Given the description of an element on the screen output the (x, y) to click on. 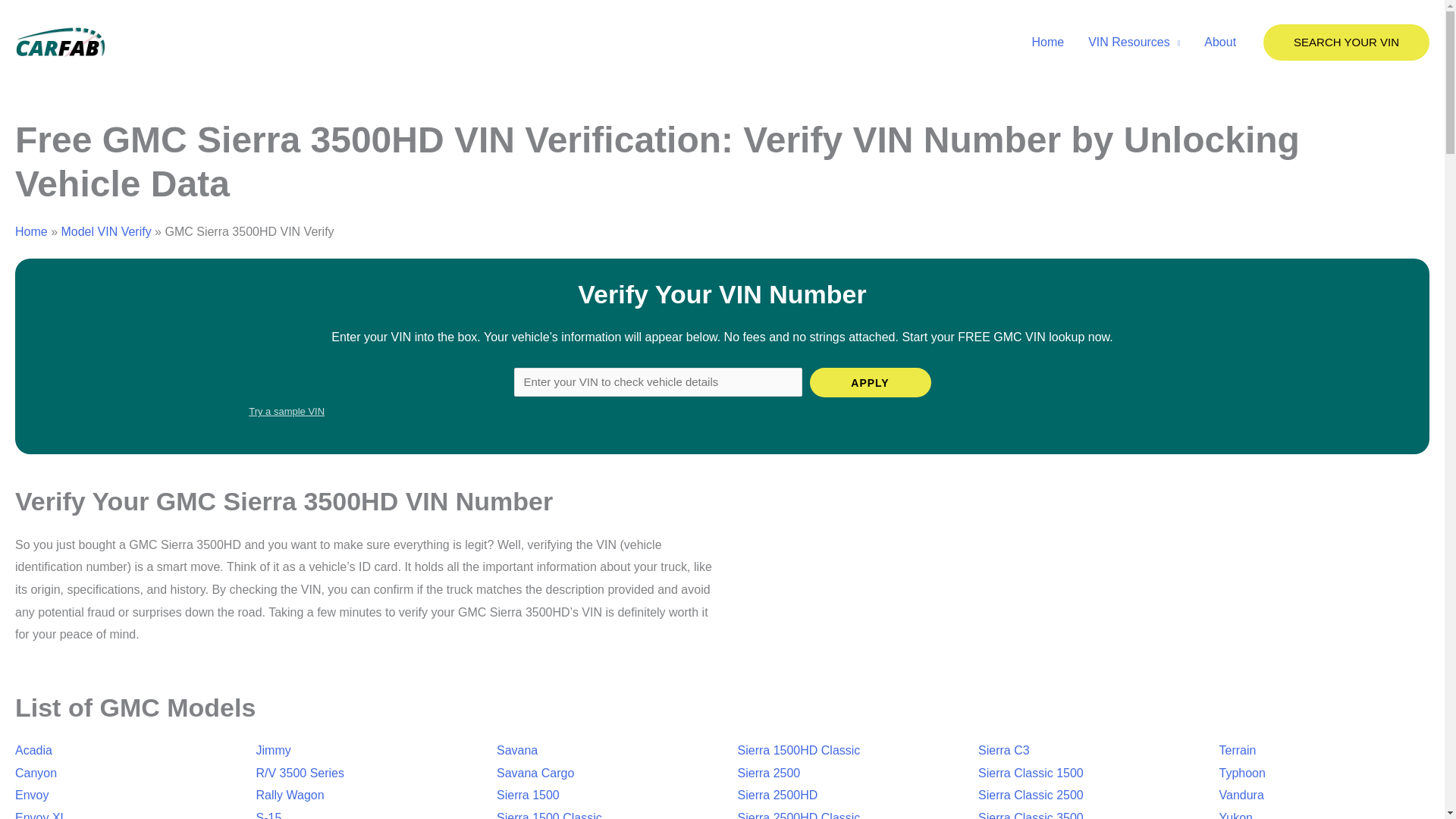
Canyon (35, 772)
SEARCH YOUR VIN (1346, 42)
Model VIN Verify (106, 231)
Rally Wagon (290, 794)
Sierra 1500 (527, 794)
Jimmy (273, 749)
About (1219, 41)
Home (31, 231)
Acadia (33, 749)
Home (1047, 41)
